Given the description of an element on the screen output the (x, y) to click on. 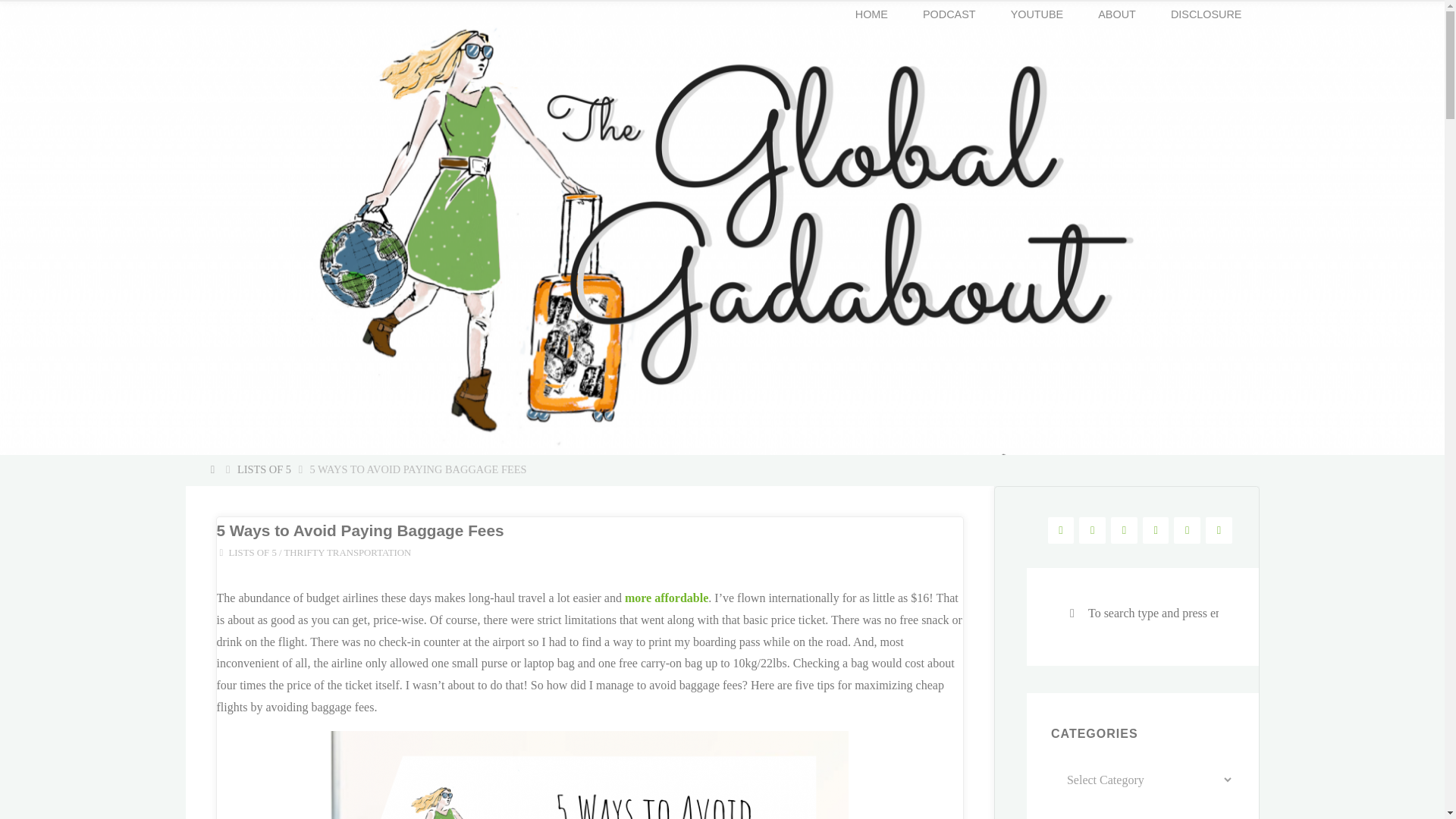
DISCLOSURE (1206, 13)
HOME (871, 13)
ABOUT (1116, 13)
more affordable (665, 597)
Categories (221, 552)
PODCAST (948, 13)
LISTS OF 5 (264, 469)
THRIFTY TRANSPORTATION (347, 553)
LISTS OF 5 (252, 553)
Home (213, 469)
YOUTUBE (1036, 13)
